Given the description of an element on the screen output the (x, y) to click on. 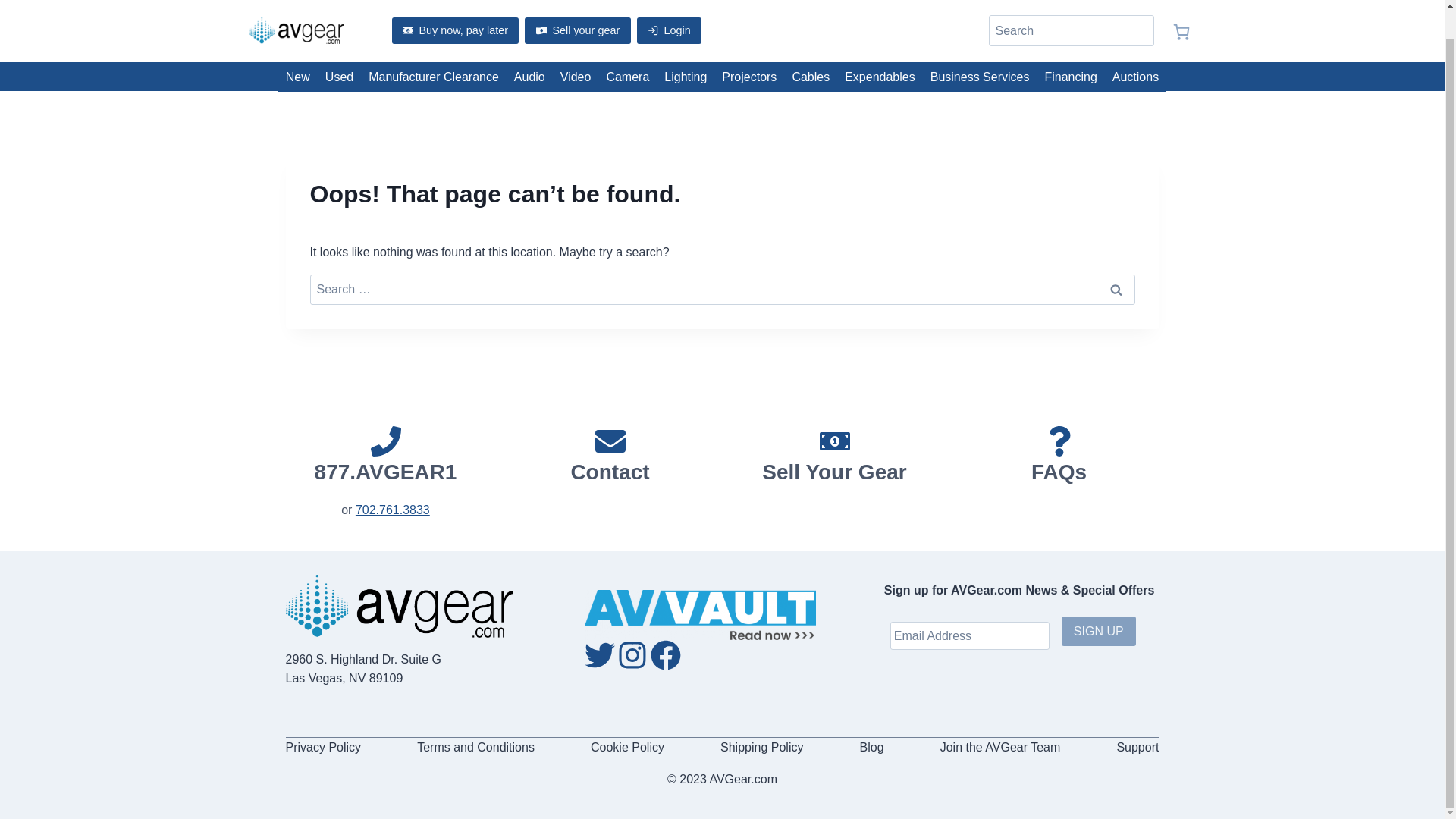
Sell your gear (577, 30)
Login (669, 30)
Manufacturer Clearance (433, 76)
Auctions (1135, 76)
Lighting (685, 76)
Search (1115, 289)
Video (575, 76)
Projectors (749, 76)
Search (1115, 289)
New (297, 76)
